Given the description of an element on the screen output the (x, y) to click on. 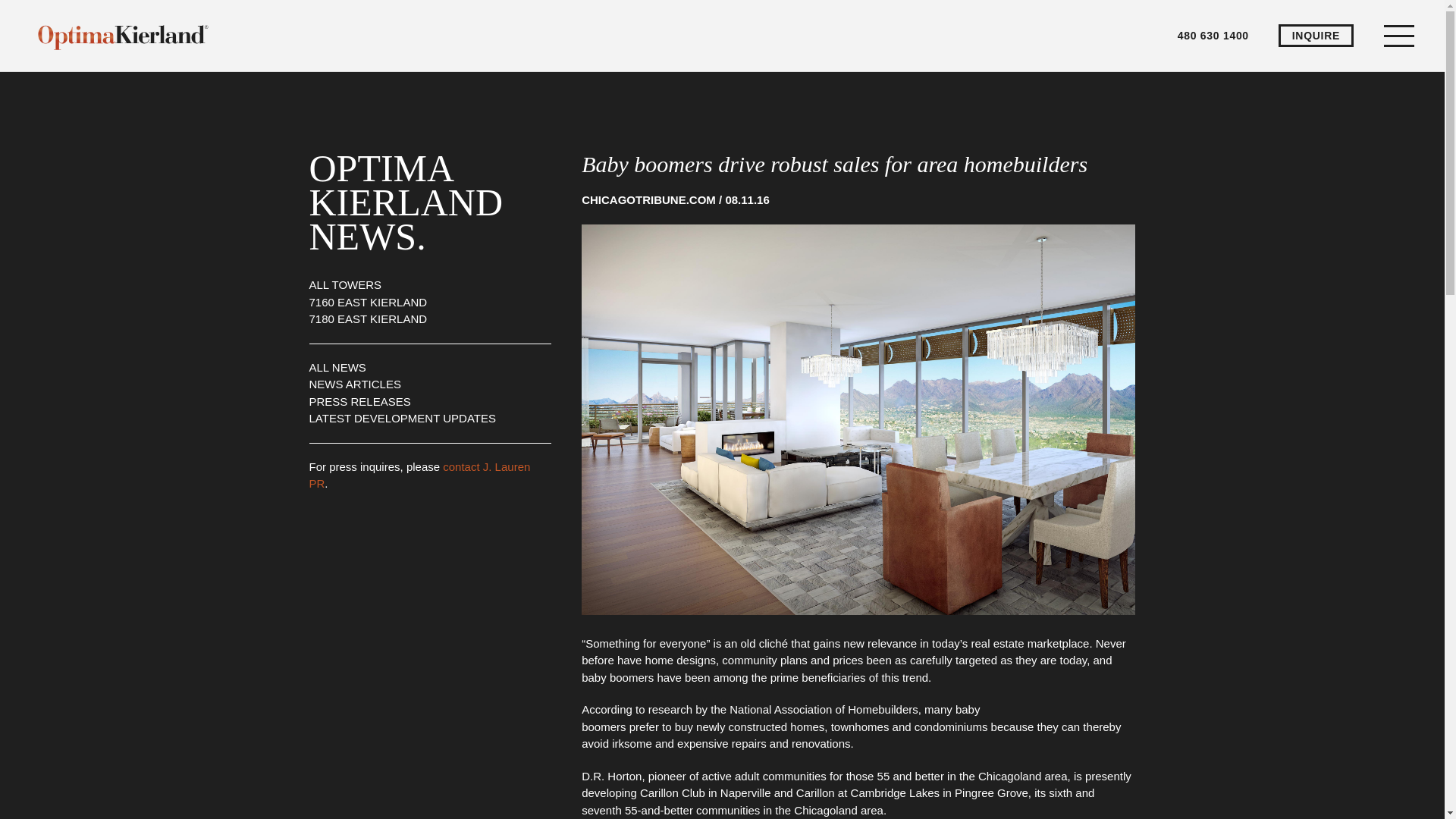
contact J. Lauren PR (419, 474)
Baby boomers drive robust sales for area homebuilders (833, 163)
ALL TOWERS (344, 284)
7160 EAST KIERLAND (368, 301)
LATEST DEVELOPMENT UPDATES (402, 418)
NEWS ARTICLES (354, 383)
INQUIRE (1316, 35)
7180 EAST KIERLAND (368, 318)
PRESS RELEASES (359, 400)
480 630 1400 (1213, 35)
ALL NEWS (337, 367)
